Given the description of an element on the screen output the (x, y) to click on. 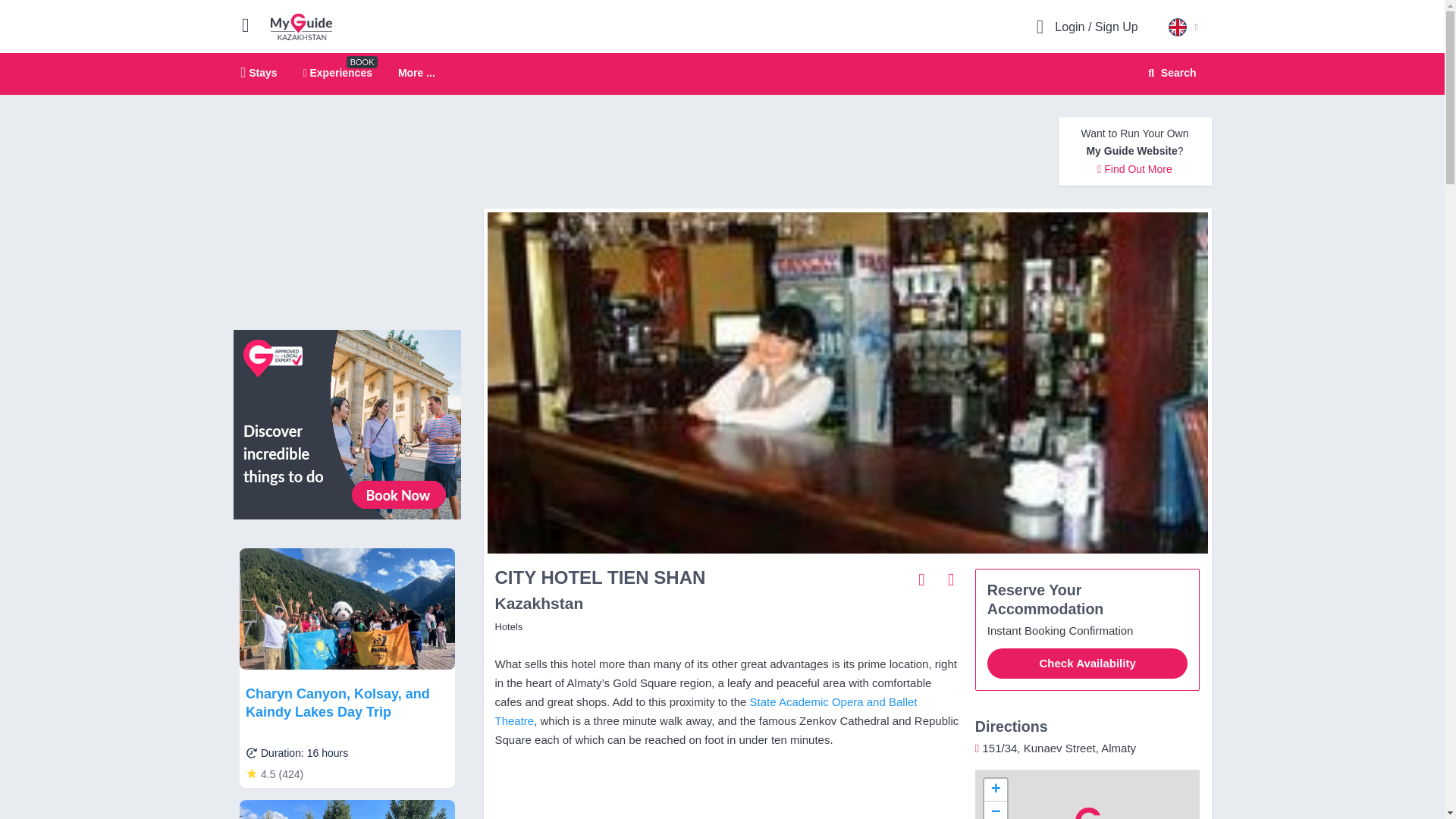
View All Experiences (346, 423)
Zoom in (995, 789)
More ... (416, 72)
My Guide Kazakhstan (300, 25)
Experiences (337, 72)
Stays (259, 72)
Find Out More (1134, 168)
Search (1169, 72)
Zoom out (995, 810)
